Given the description of an element on the screen output the (x, y) to click on. 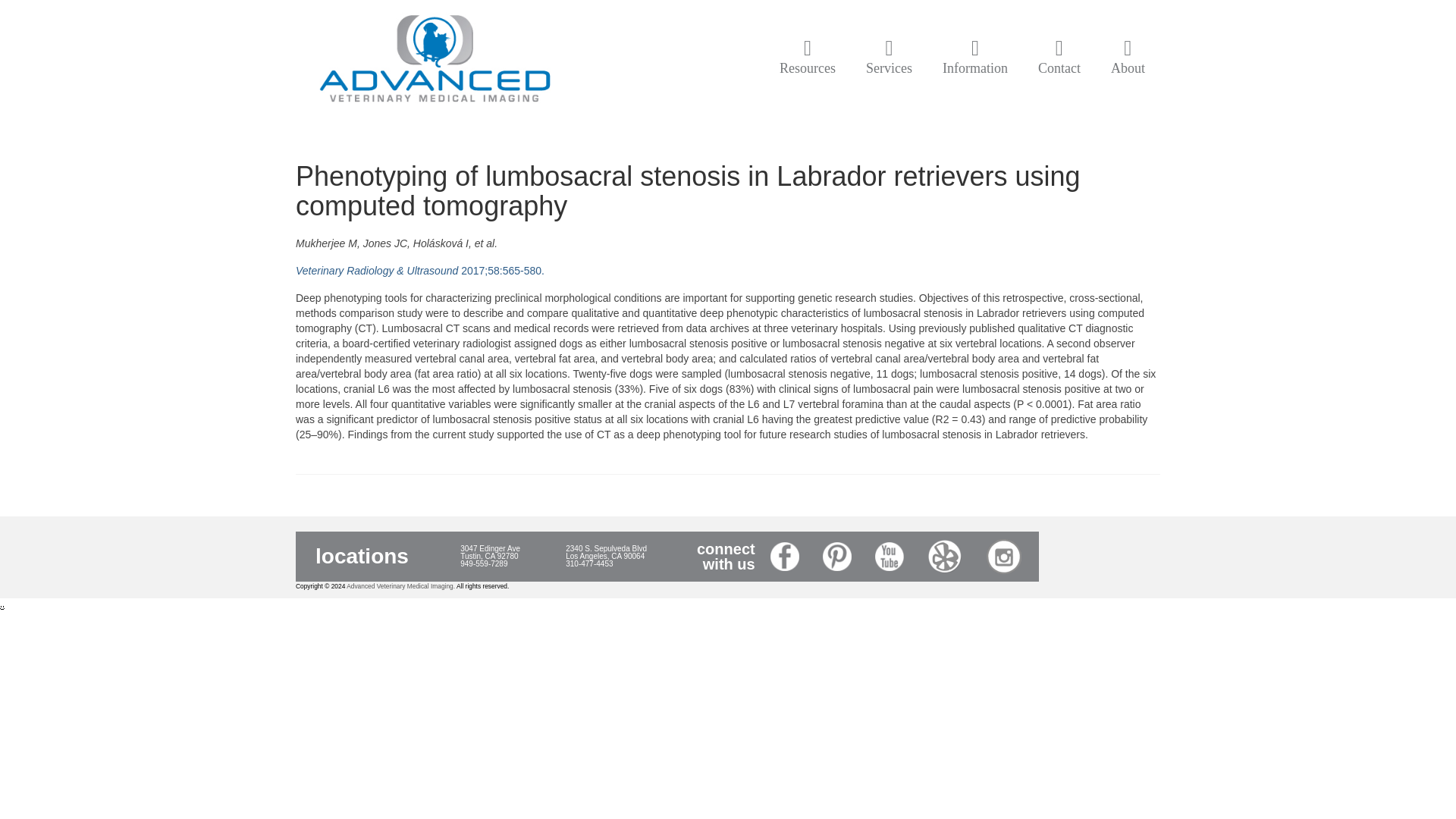
Advanced Veterinary Medical Imaging (434, 61)
Contact (1059, 57)
About (1128, 57)
Services (888, 57)
Resources (807, 57)
Information (975, 57)
About (1128, 57)
